Given the description of an element on the screen output the (x, y) to click on. 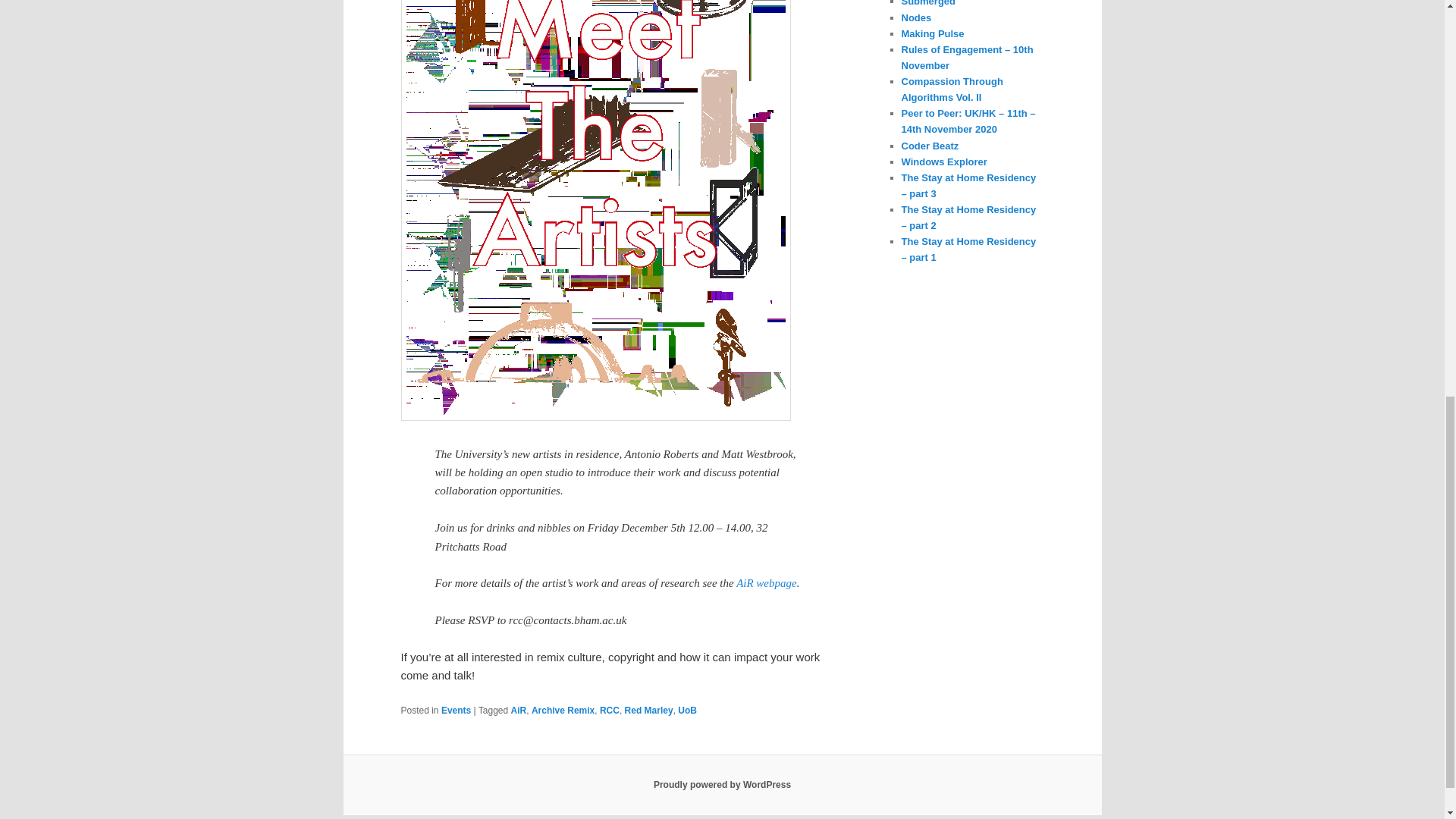
AiR (519, 710)
UoB (687, 710)
Semantic Personal Publishing Platform (721, 784)
AiR webpage (766, 582)
Events (455, 710)
Red Marley (648, 710)
Archive Remix (562, 710)
RCC (609, 710)
